Given the description of an element on the screen output the (x, y) to click on. 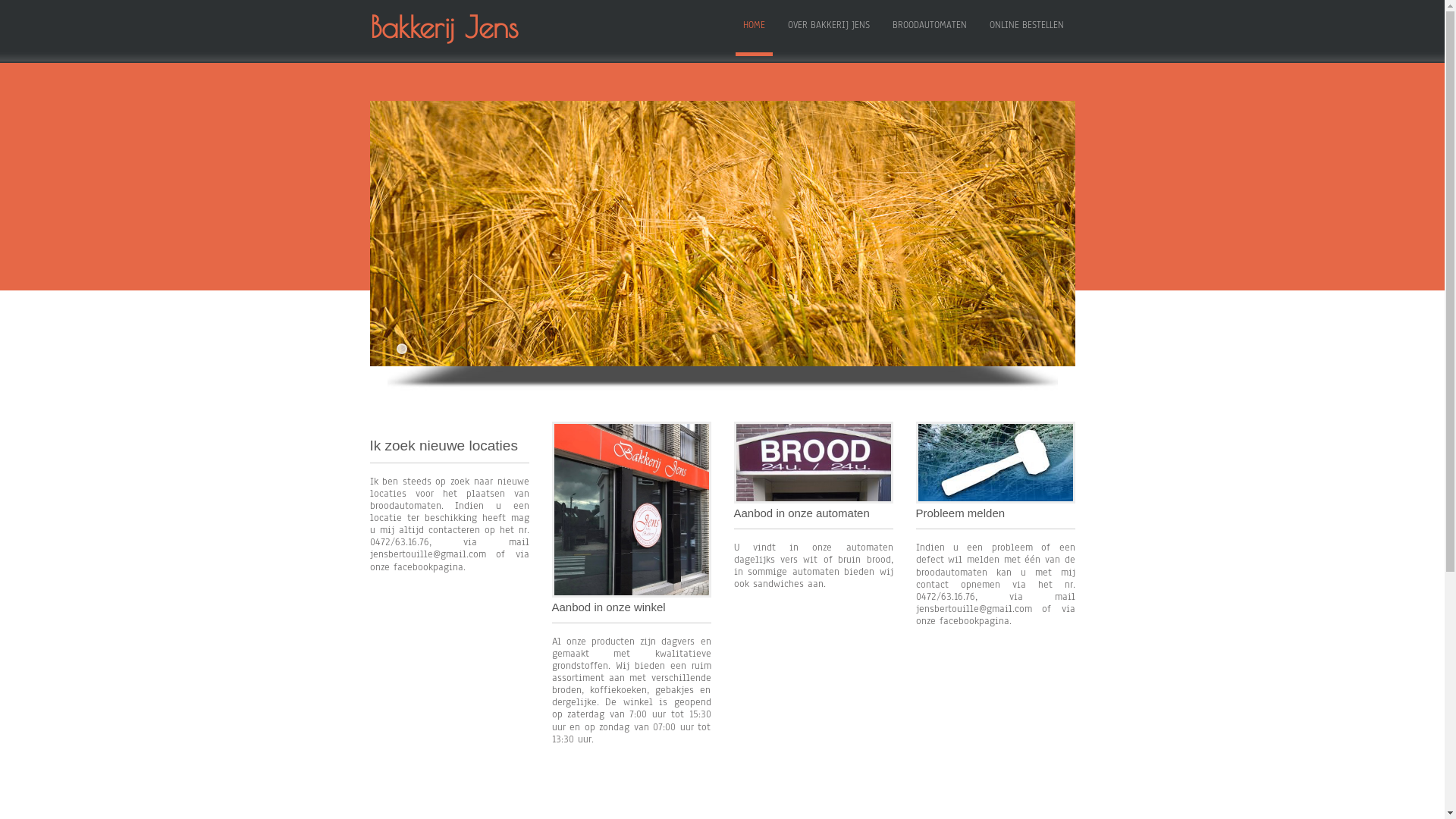
BROODAUTOMATEN Element type: text (928, 28)
Bakkerij Jens Element type: text (472, 26)
ONLINE BESTELLEN Element type: text (1025, 28)
  Element type: text (1069, 228)
1 Element type: text (400, 348)
  Element type: text (374, 228)
HOME Element type: text (753, 28)
OVER BAKKERIJ JENS Element type: text (827, 28)
